Given the description of an element on the screen output the (x, y) to click on. 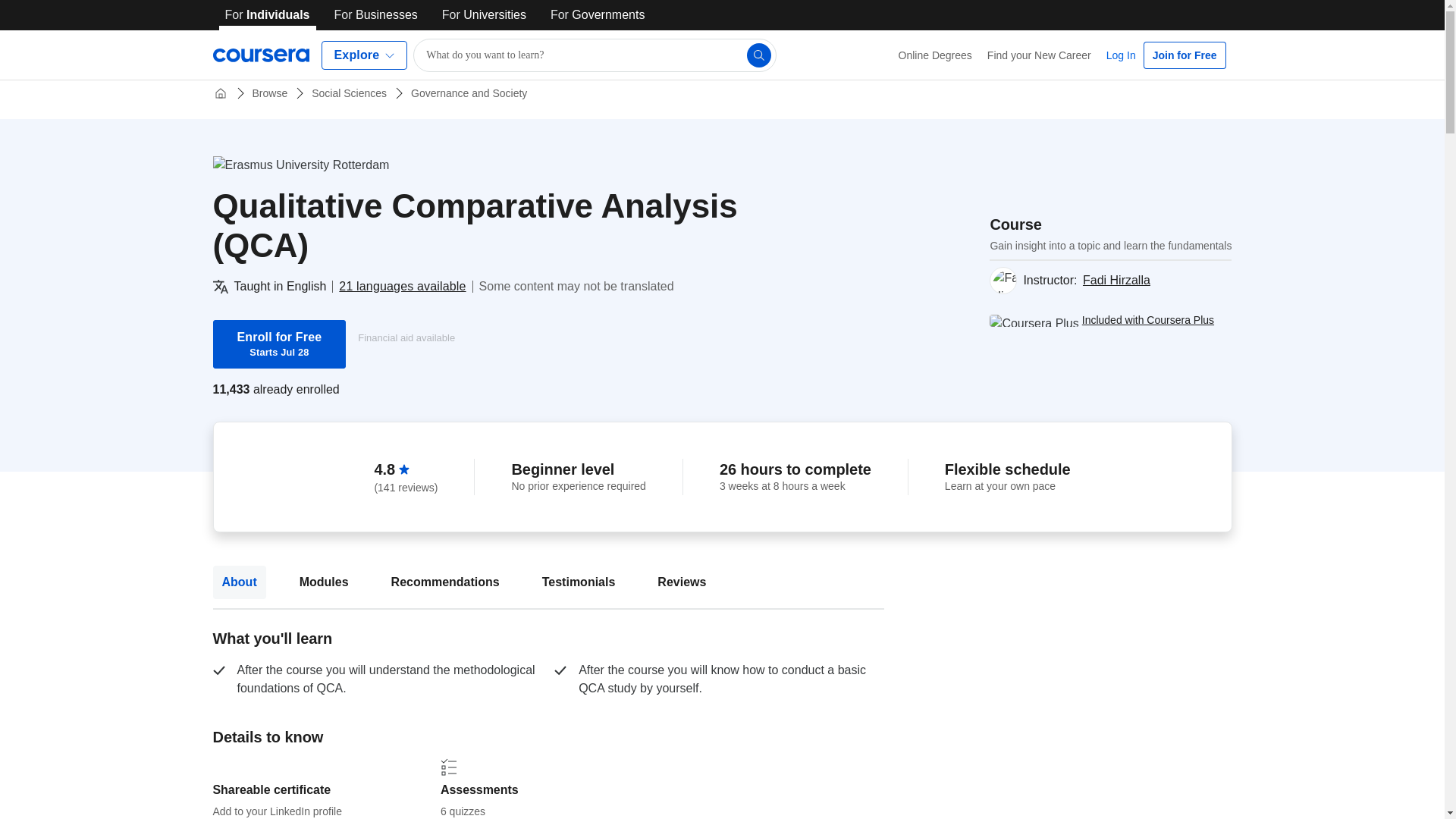
For Governments (597, 15)
Social Sciences (349, 93)
For Universities (483, 15)
Reviews (680, 581)
For Individuals (266, 15)
Find your New Career (1039, 54)
Recommendations (444, 581)
About (238, 581)
Browse (270, 93)
Modules (323, 581)
Online Degrees (935, 54)
Financial aid available (406, 337)
Fadi Hirzalla (279, 344)
For Businesses (1116, 279)
